Given the description of an element on the screen output the (x, y) to click on. 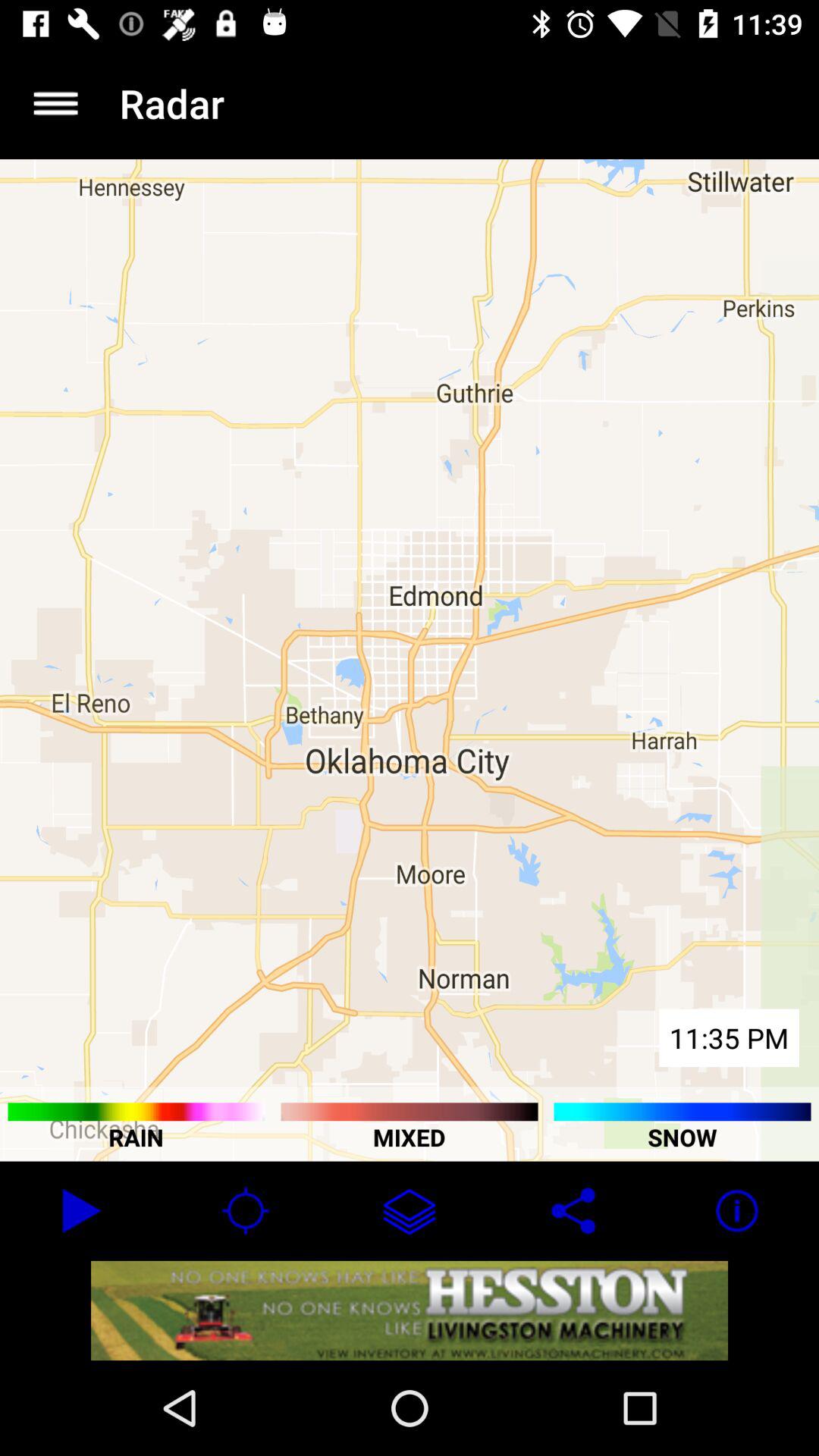
go to advertisement (409, 1310)
